Given the description of an element on the screen output the (x, y) to click on. 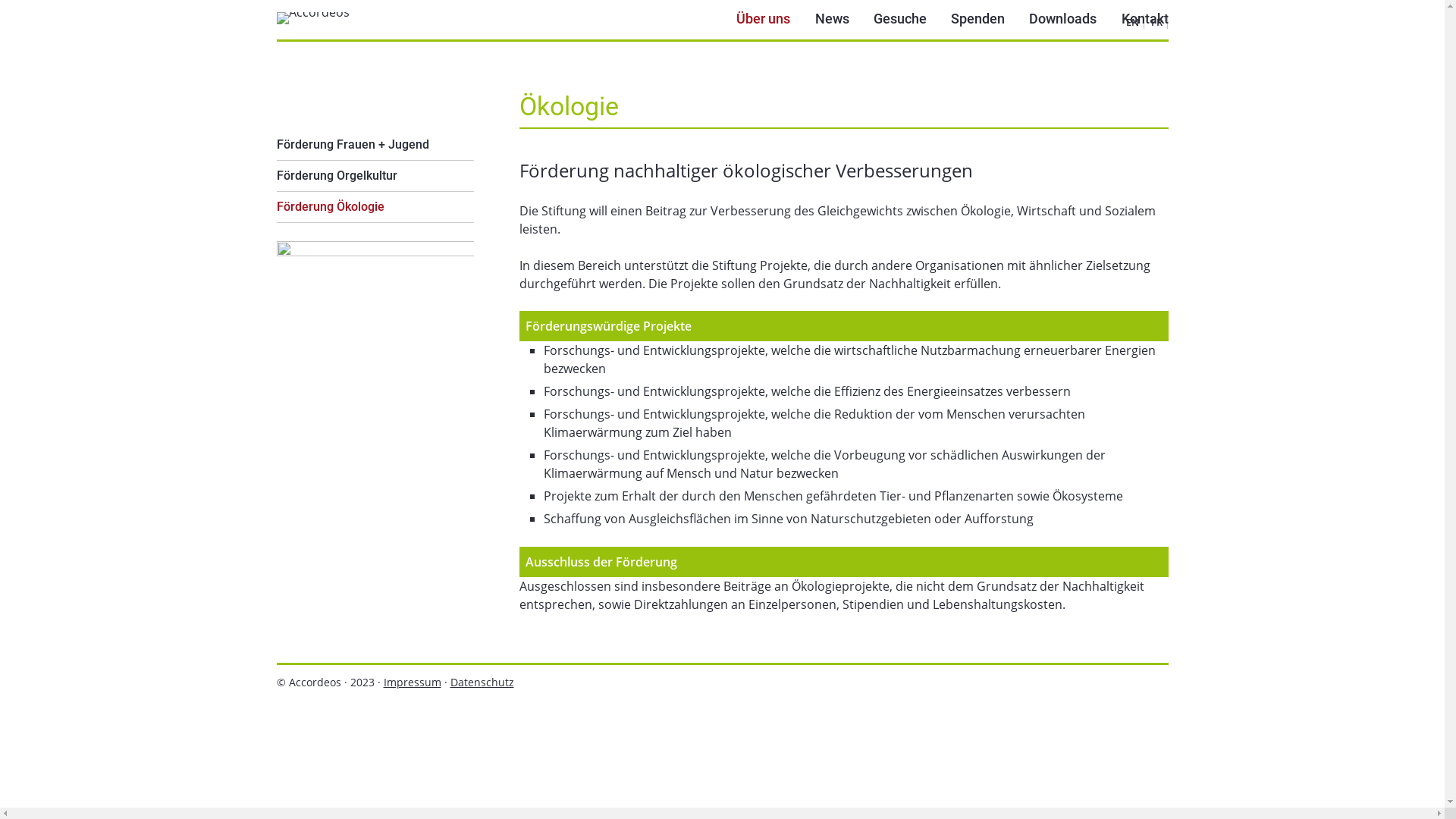
EN Element type: text (1131, 21)
FR Element type: text (1156, 21)
  Element type: text (276, 222)
Kontakt Element type: text (1143, 19)
News Element type: text (831, 19)
Spenden Element type: text (977, 19)
Impressum Element type: text (412, 681)
Datenschutz Element type: text (482, 681)
Gesuche Element type: text (899, 19)
Downloads Element type: text (1062, 19)
